Given the description of an element on the screen output the (x, y) to click on. 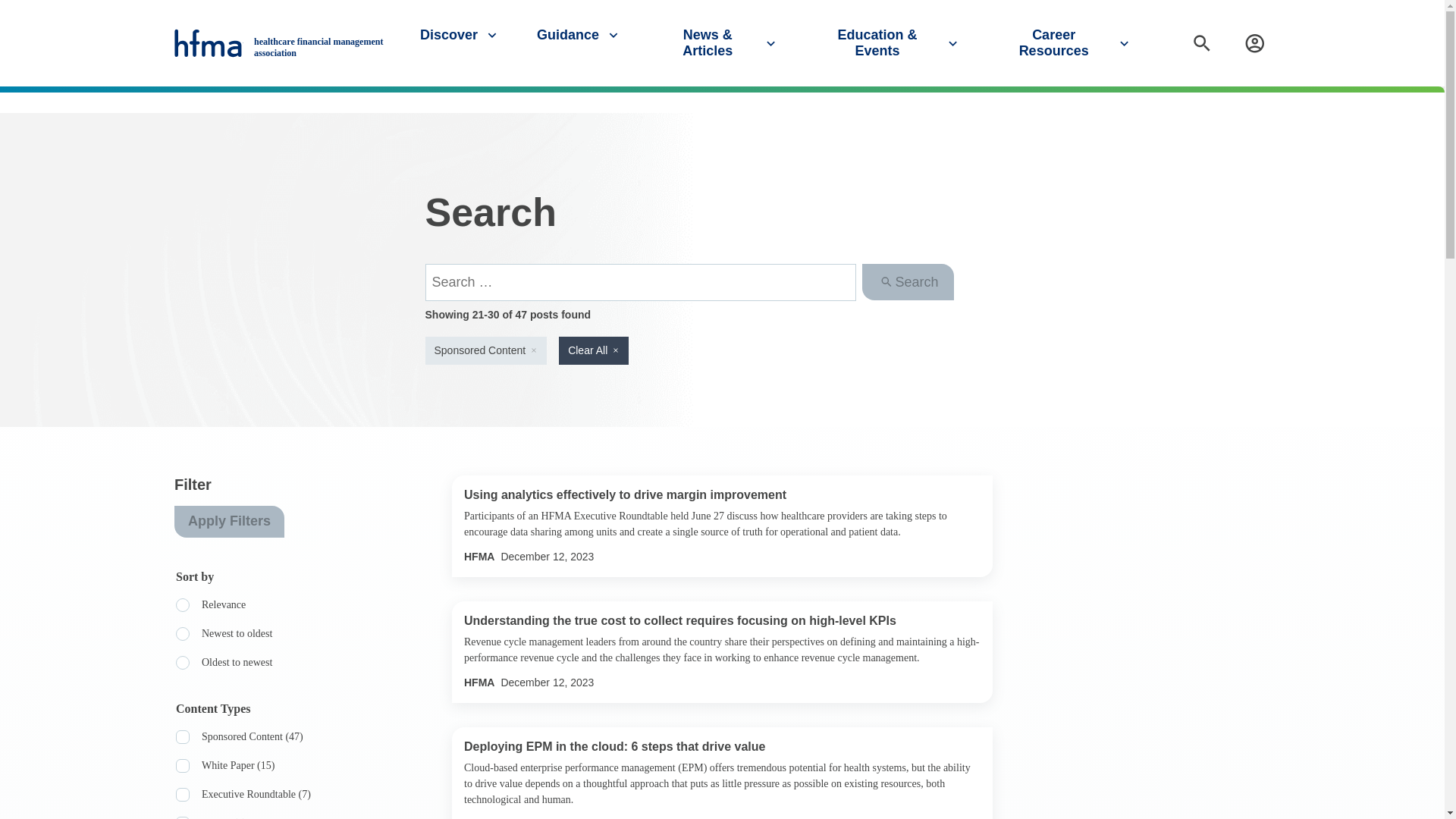
white-paper (182, 766)
relevance (182, 604)
3rd party ad content (1157, 749)
sponsored-content (182, 736)
Submit (1427, 101)
executive-roundtable (182, 794)
newest-oldest (182, 633)
Guidance (579, 35)
Career Resources (1064, 42)
oldest-newest (182, 662)
3rd party ad content (1157, 570)
Discover (460, 35)
